Given the description of an element on the screen output the (x, y) to click on. 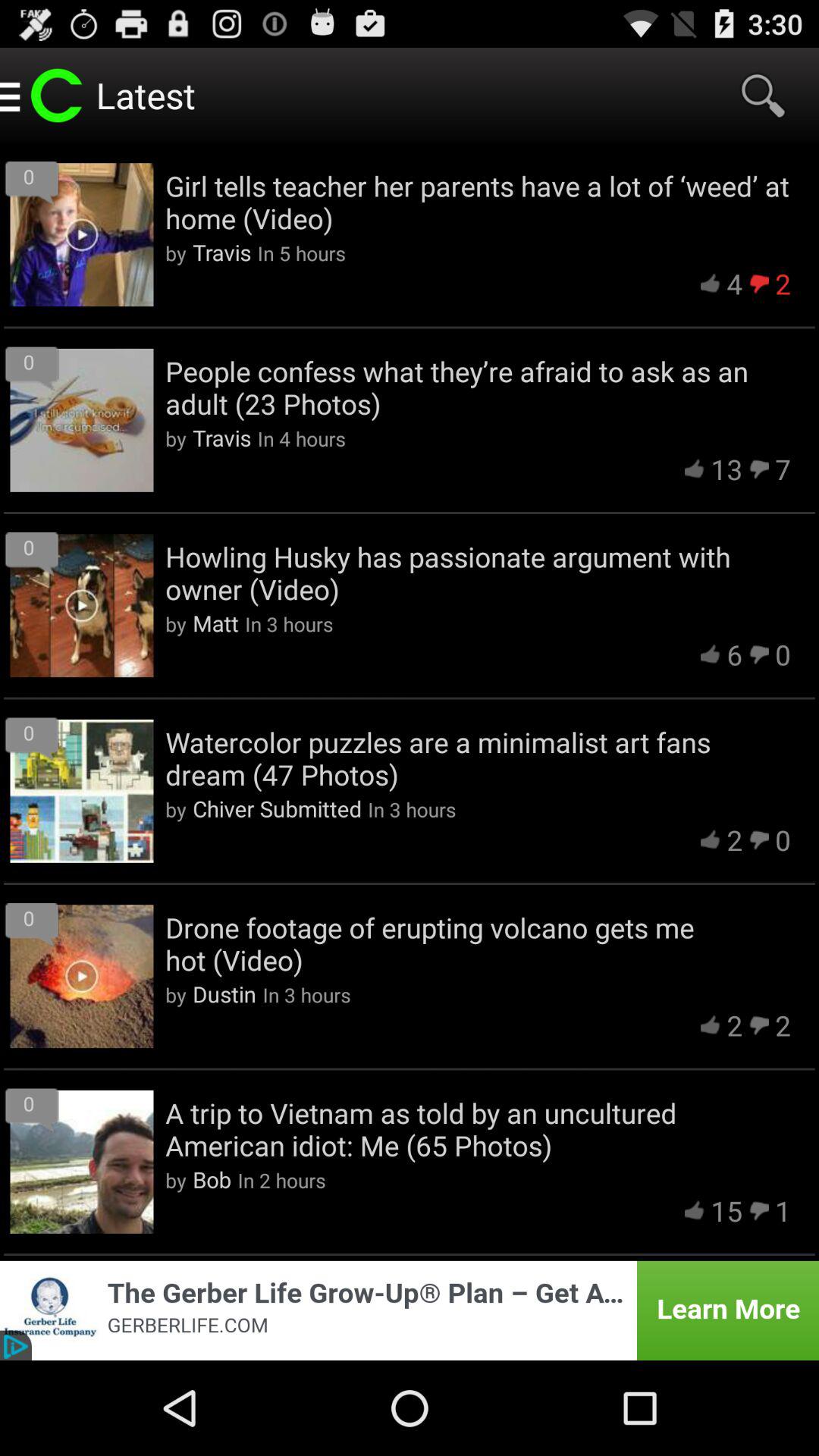
turn off the icon next to by app (215, 622)
